Given the description of an element on the screen output the (x, y) to click on. 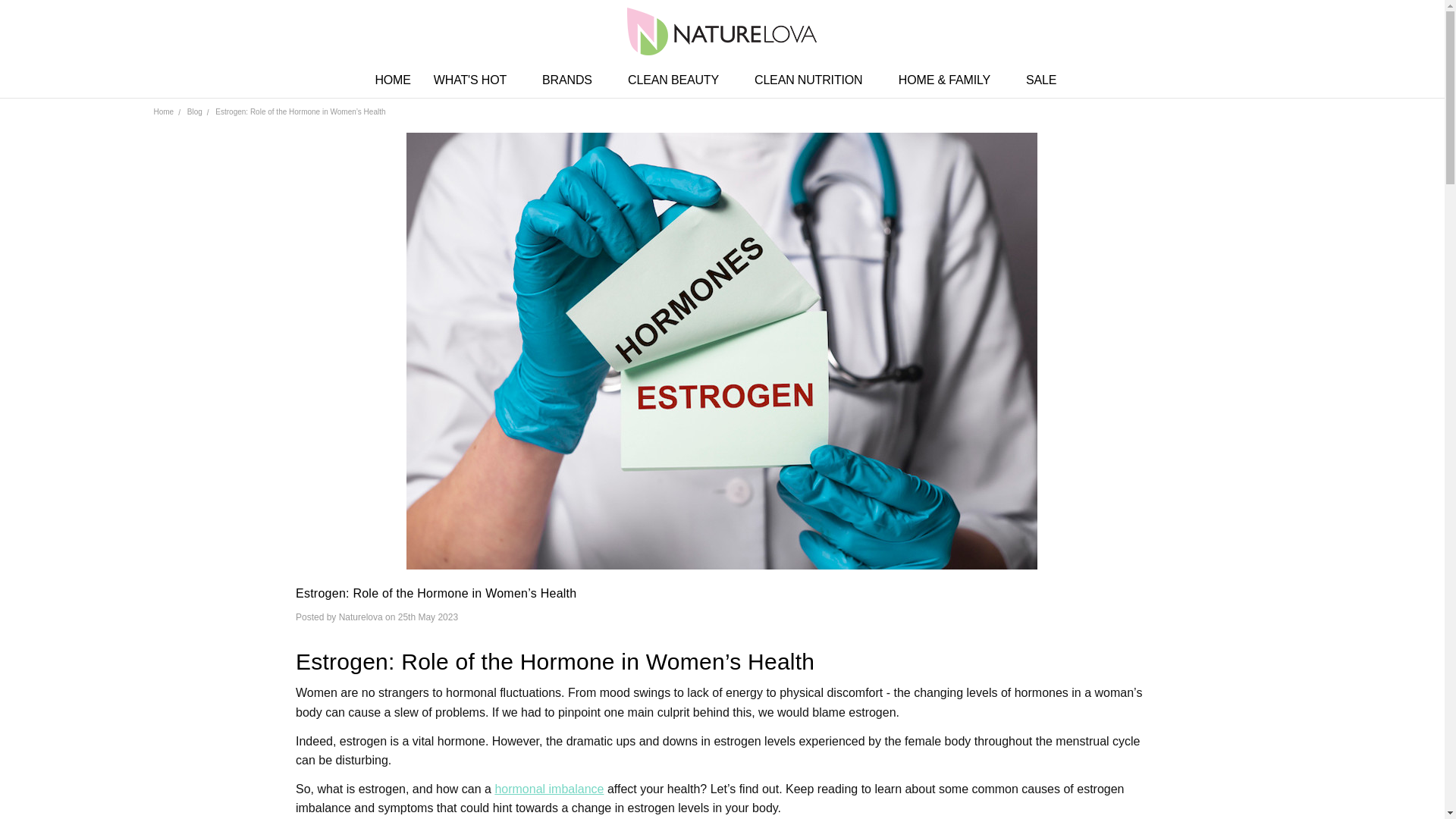
natureLOVA (721, 31)
CLEAN BEAUTY (678, 80)
BRANDS (573, 80)
HOME (392, 80)
WHAT'S HOT (476, 80)
Show All (741, 80)
